Given the description of an element on the screen output the (x, y) to click on. 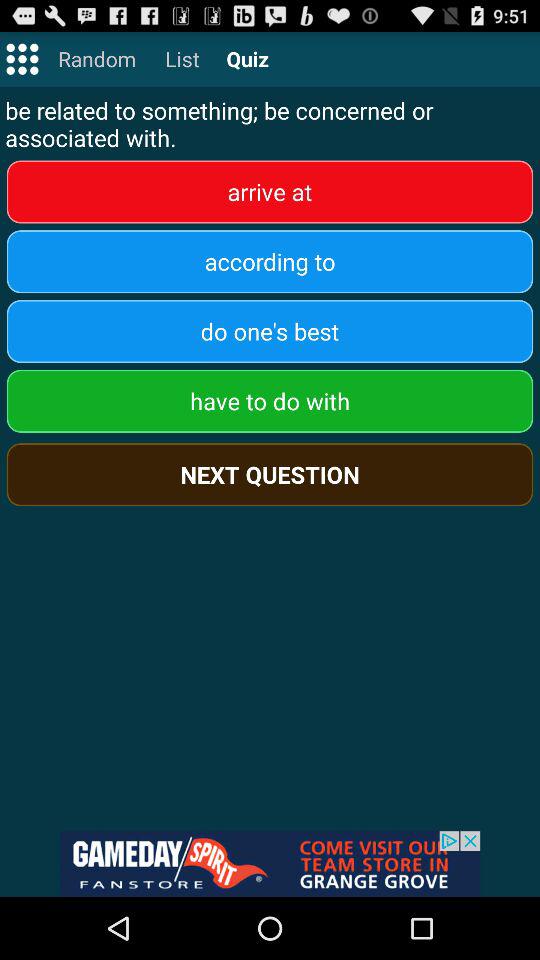
advertisement page (270, 864)
